Given the description of an element on the screen output the (x, y) to click on. 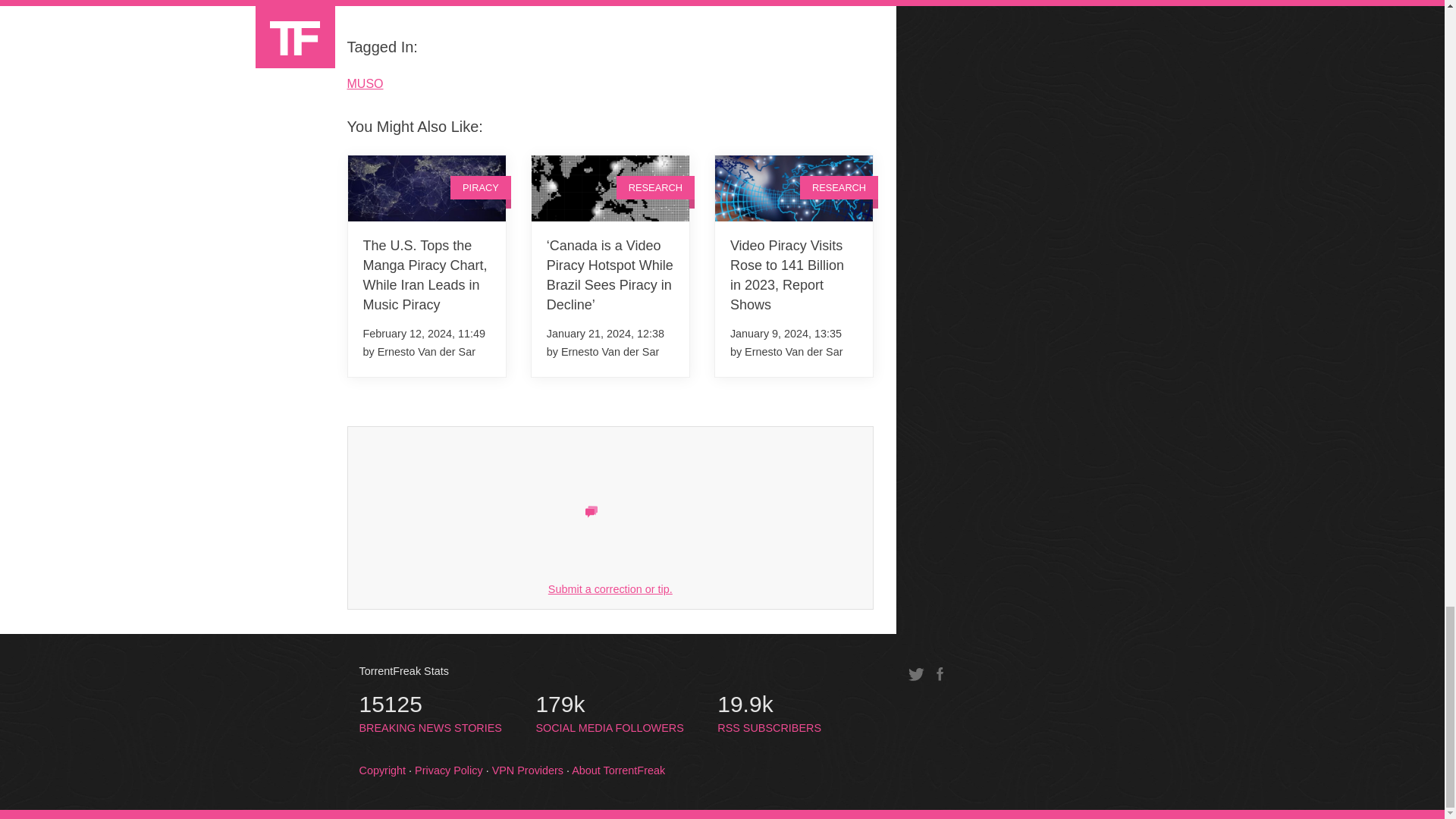
MUSO (365, 83)
Next Post (430, 713)
Submit a correction or tip. (380, 6)
Previous Post (610, 589)
